Given the description of an element on the screen output the (x, y) to click on. 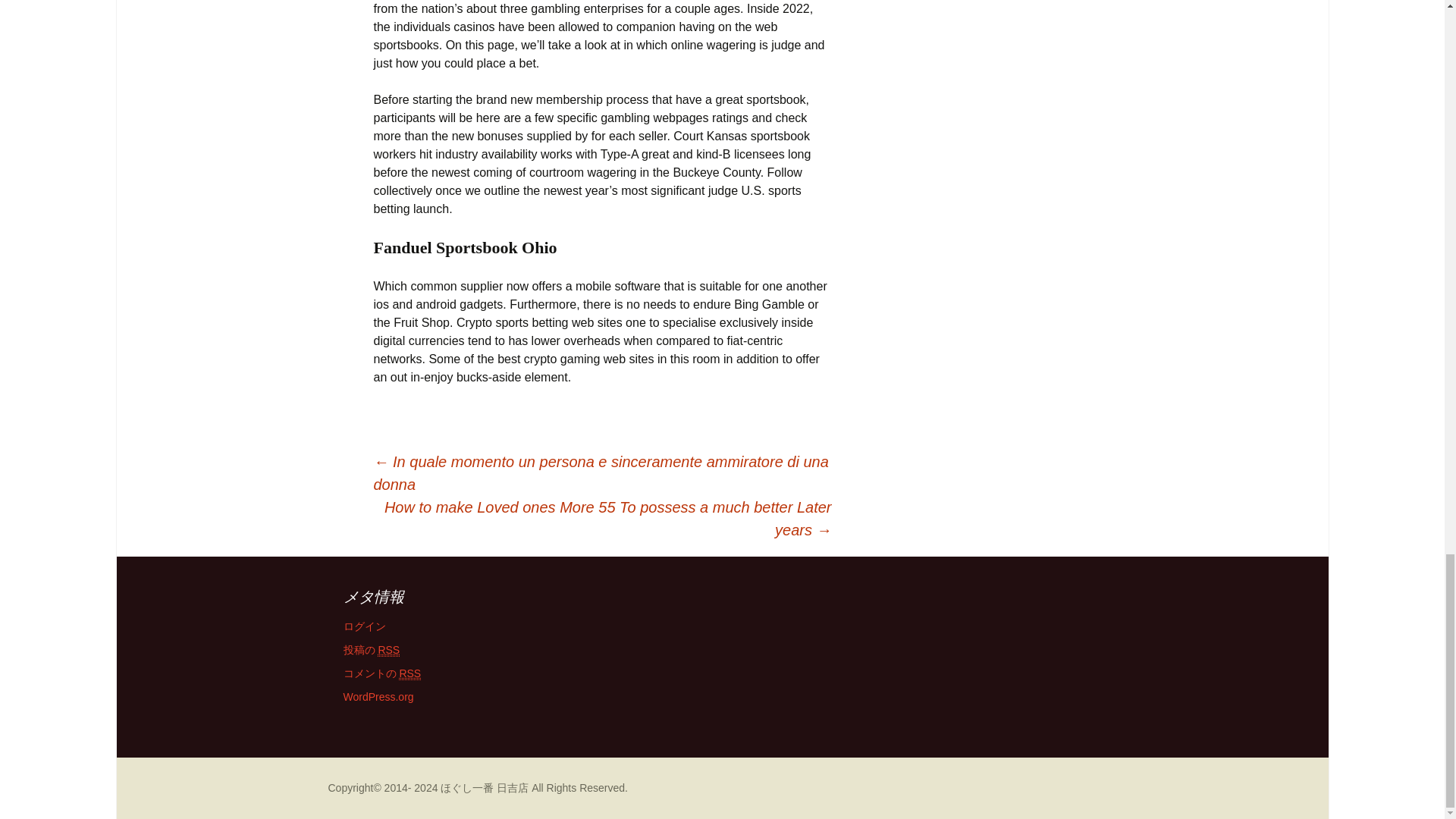
Really Simple Syndication (387, 649)
Really Simple Syndication (409, 673)
WordPress.org (377, 696)
